Given the description of an element on the screen output the (x, y) to click on. 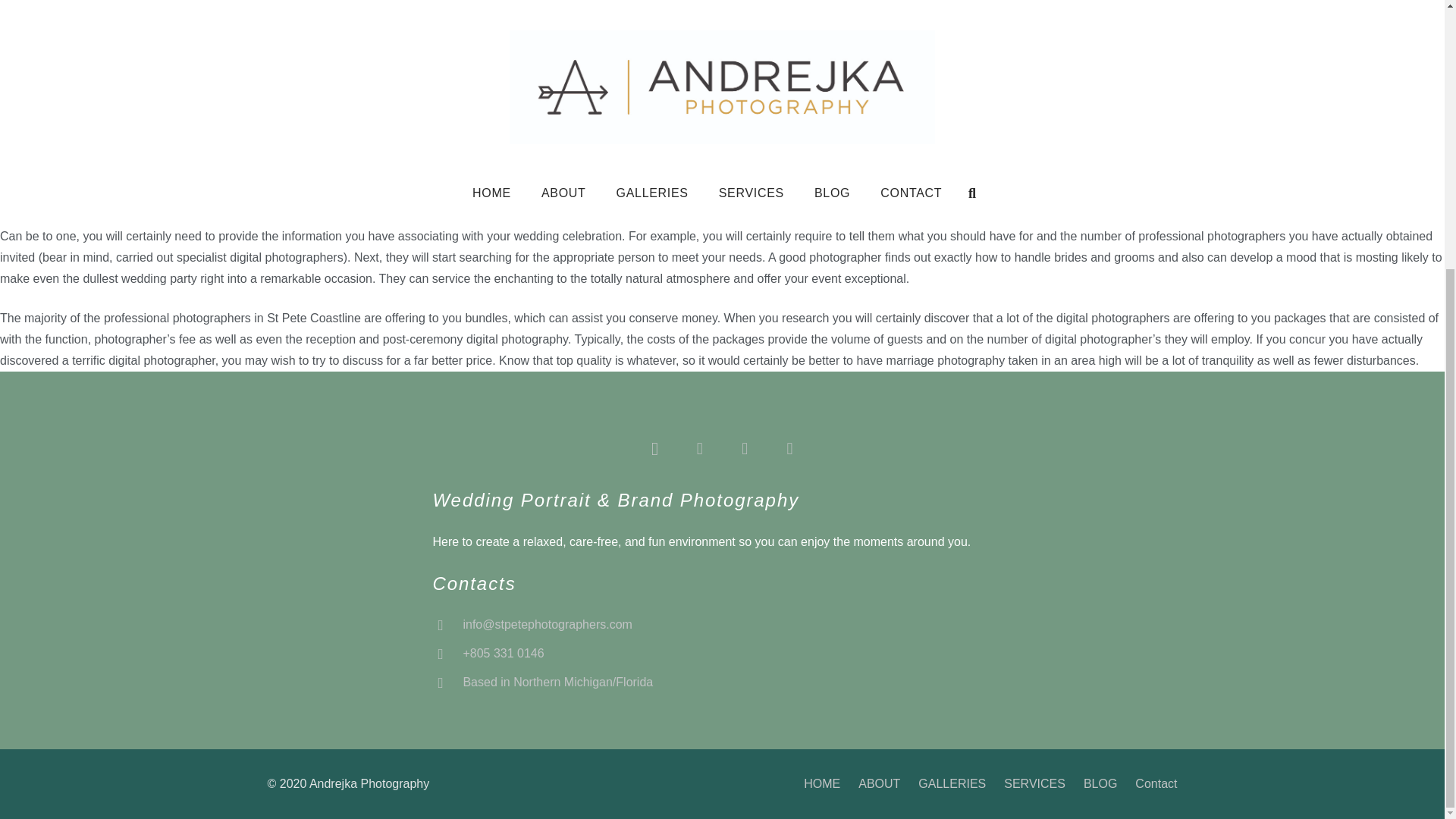
BLOG (1099, 783)
Facebook (699, 448)
SERVICES (1034, 783)
HOME (821, 783)
Contact (1155, 783)
YouTube (789, 448)
ABOUT (879, 783)
Pinterest (744, 448)
Instagram (654, 448)
GALLERIES (951, 783)
